Given the description of an element on the screen output the (x, y) to click on. 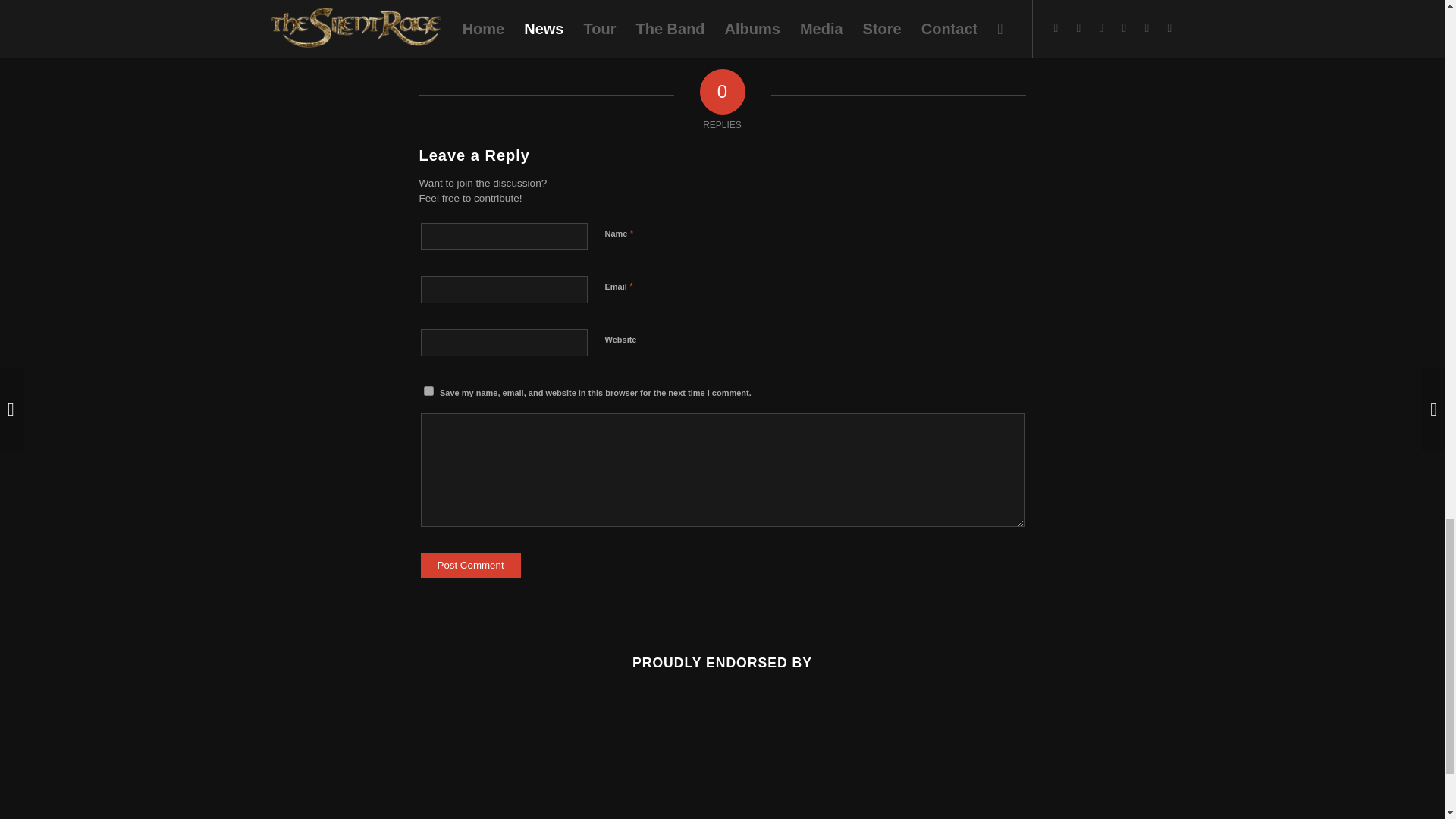
Post Comment (469, 565)
Post Comment (469, 565)
yes (427, 390)
